Given the description of an element on the screen output the (x, y) to click on. 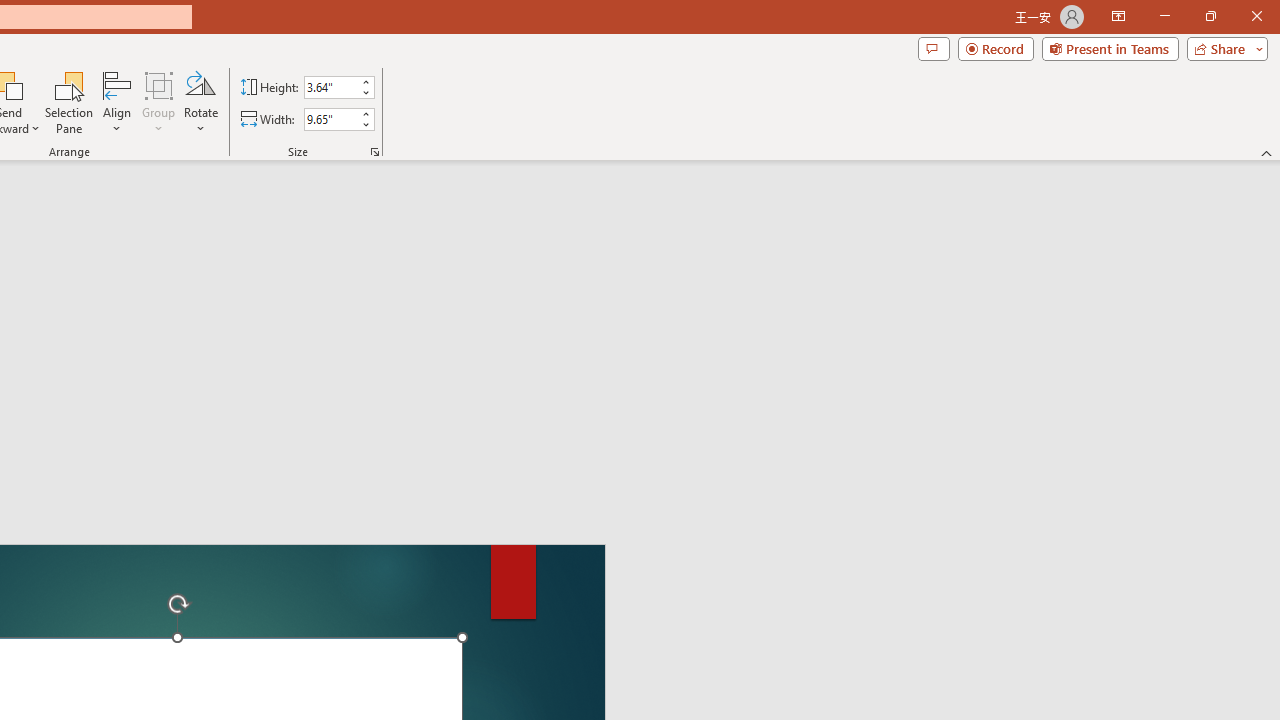
Align (117, 102)
More (365, 113)
Group (159, 102)
Less (365, 124)
Size and Position... (374, 151)
Shape Width (330, 119)
Shape Height (330, 87)
